Given the description of an element on the screen output the (x, y) to click on. 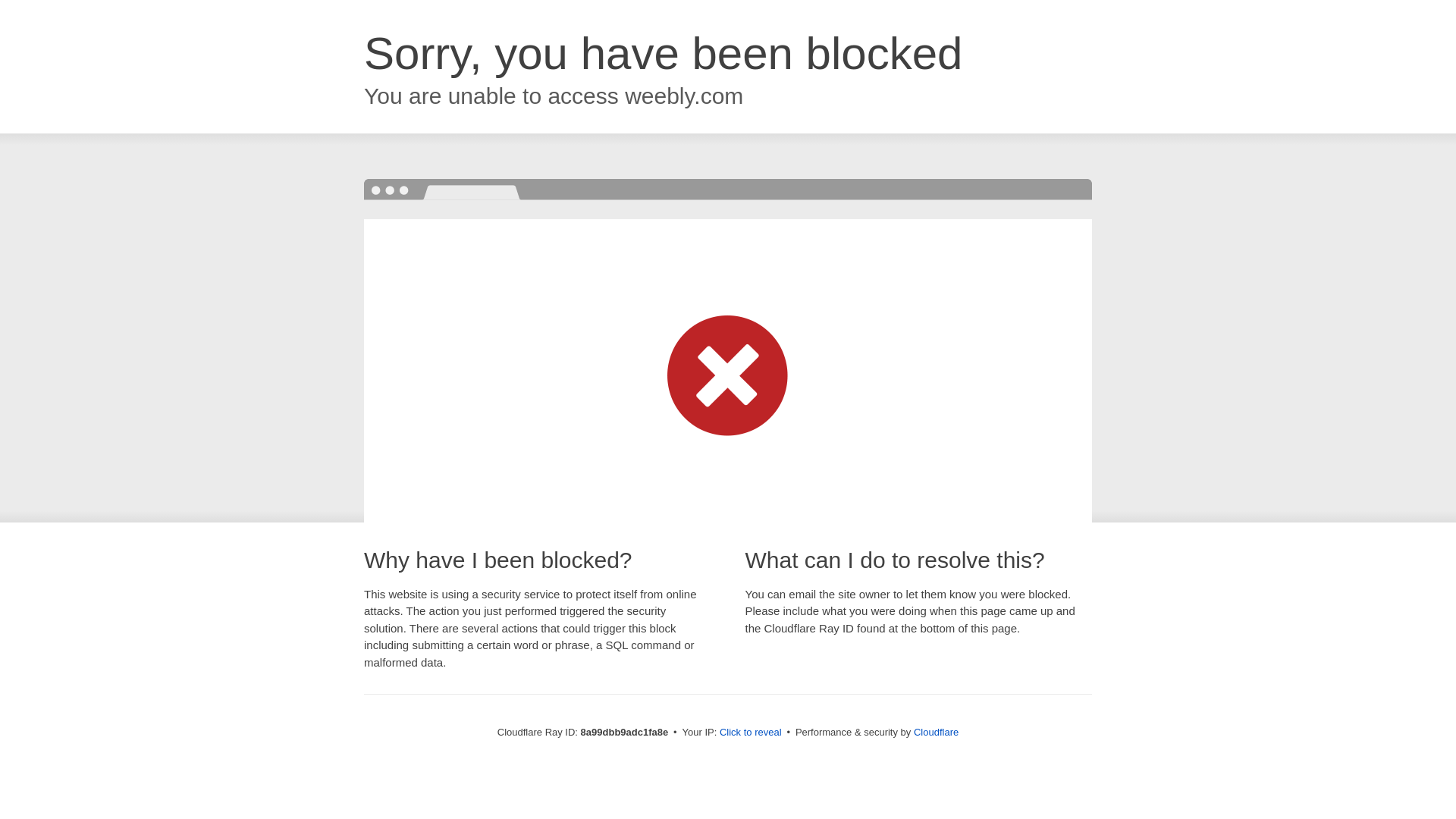
Cloudflare (936, 731)
Click to reveal (750, 732)
